Given the description of an element on the screen output the (x, y) to click on. 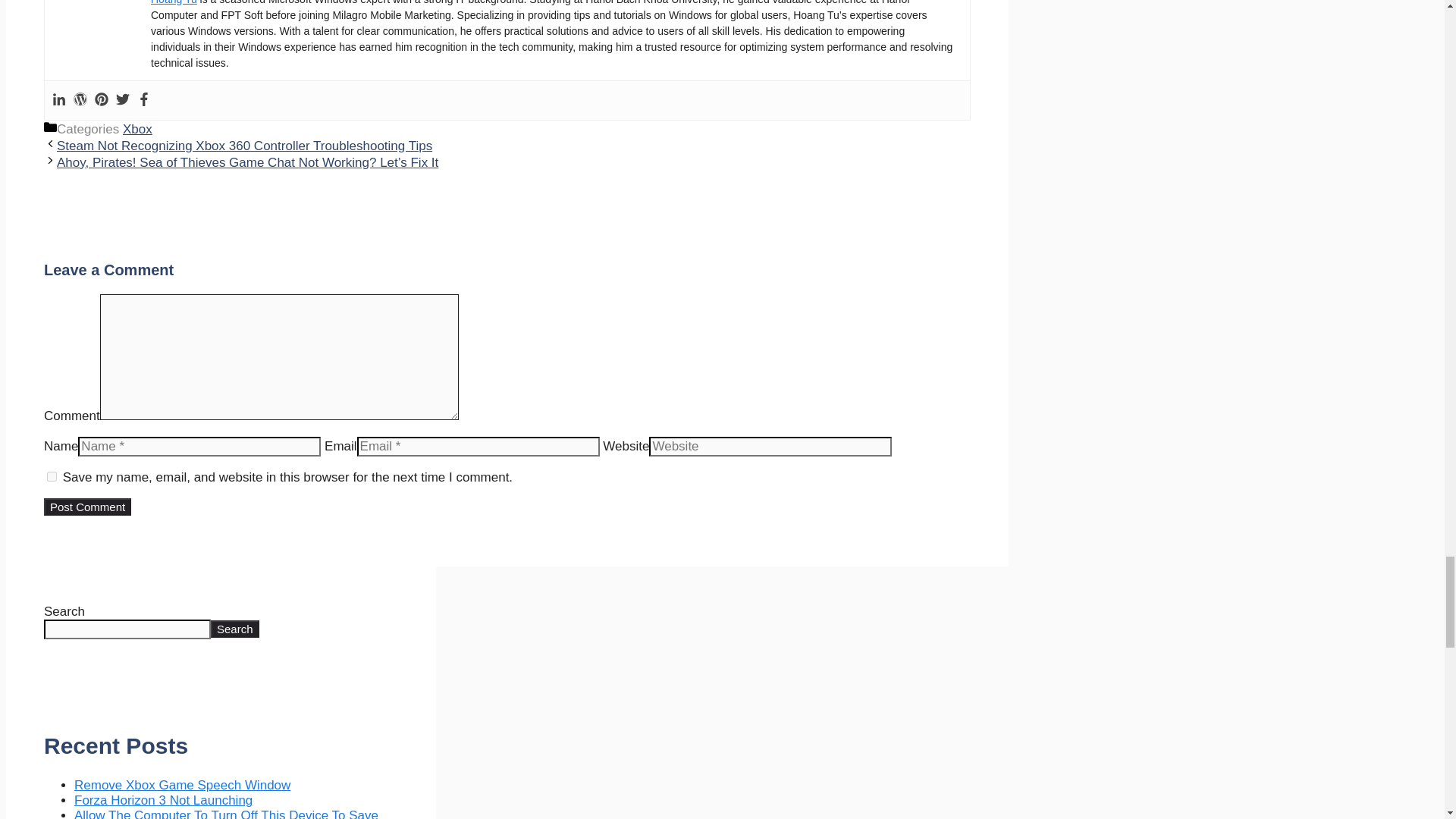
Xbox (137, 128)
Post Comment (87, 506)
yes (51, 476)
Hoang Tu (173, 2)
